Given the description of an element on the screen output the (x, y) to click on. 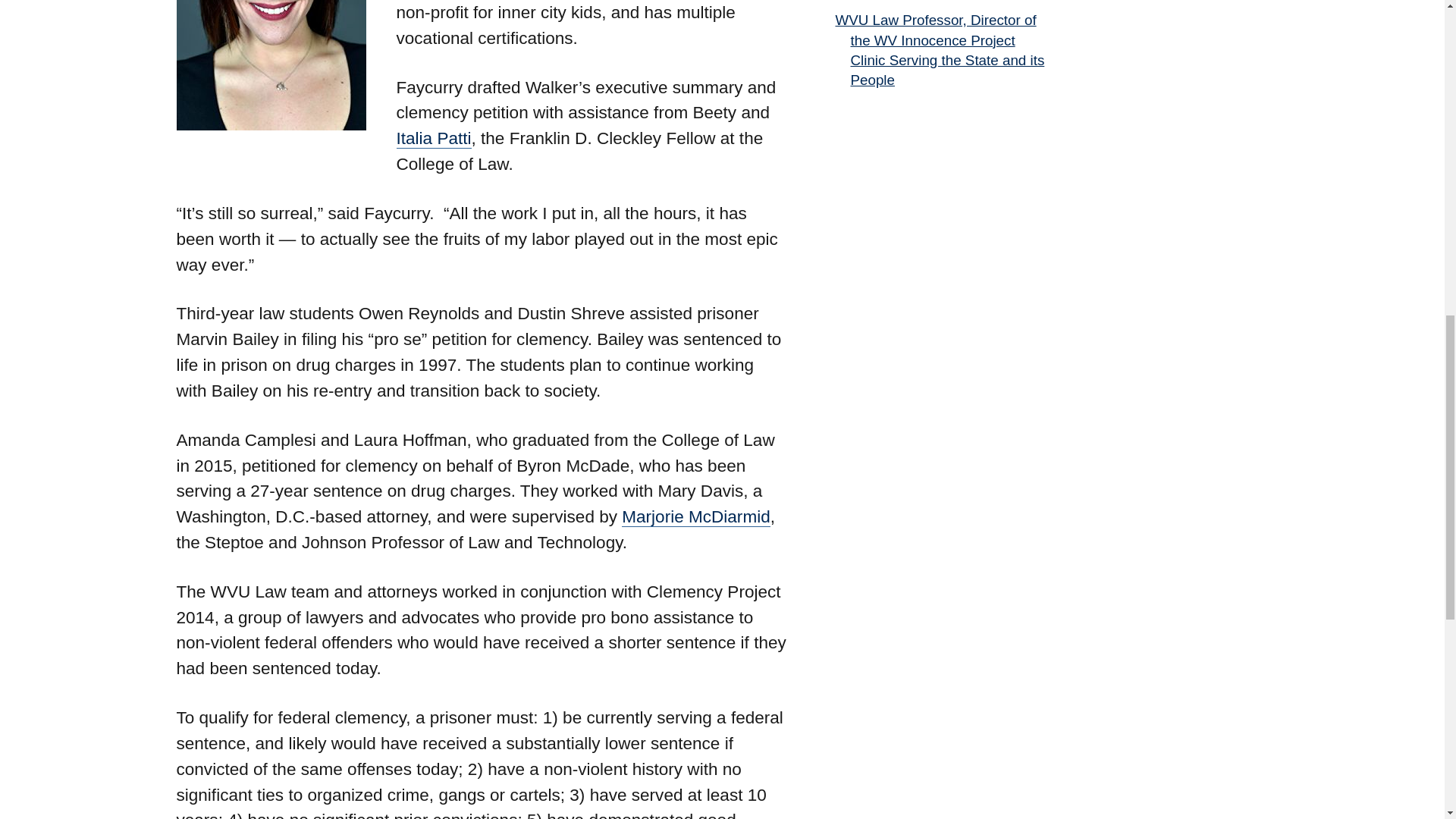
Italia Patti (433, 138)
